Given the description of an element on the screen output the (x, y) to click on. 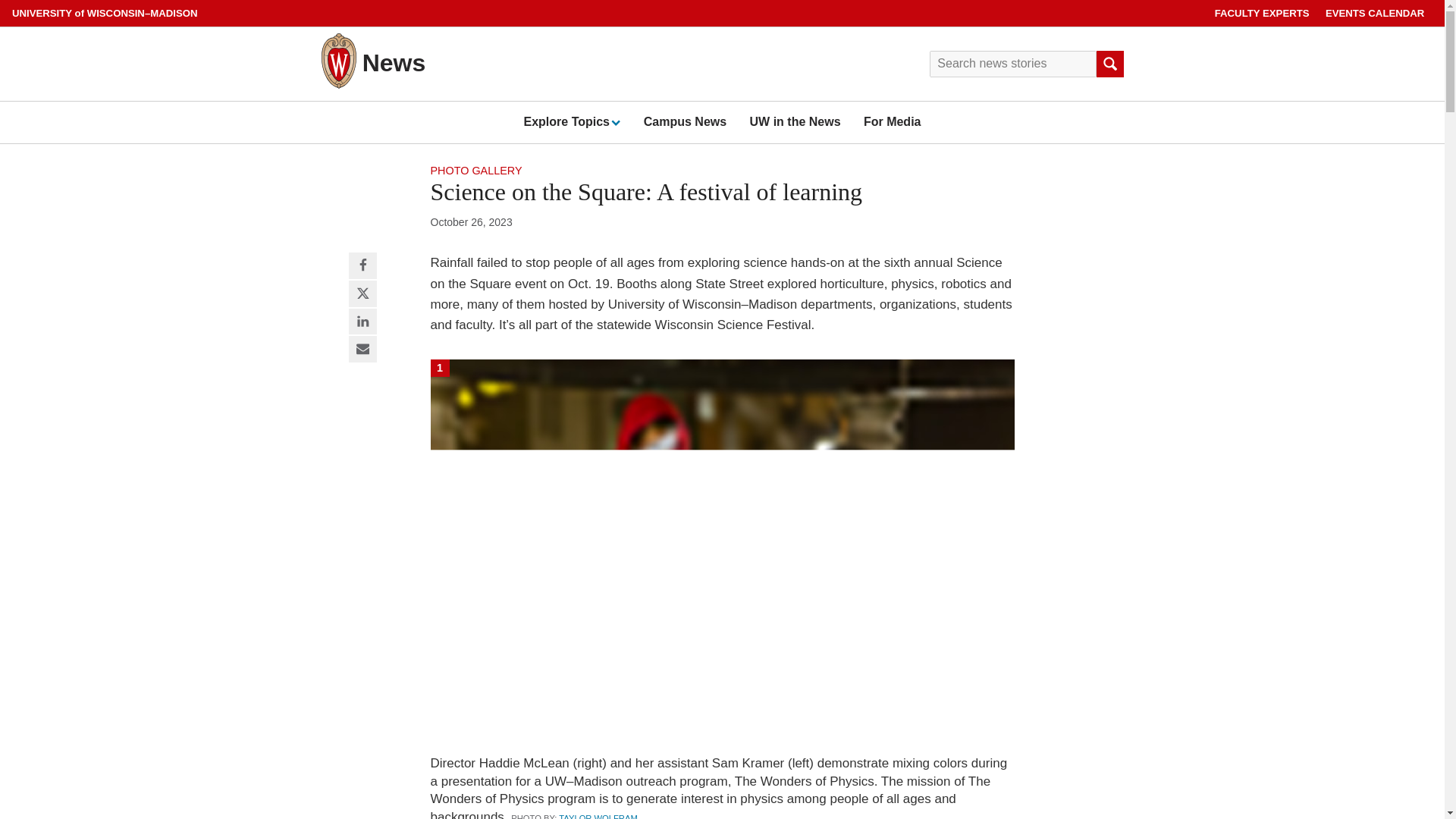
For Media (892, 121)
Submit search (1109, 63)
TAYLOR WOLFRAM (598, 816)
News (394, 62)
FACULTY EXPERTS (1262, 13)
EVENTS CALENDAR (1374, 13)
Skip to main content (3, 3)
Expand (615, 122)
Campus News (684, 121)
Explore TopicsExpand (571, 121)
UW in the News (795, 121)
